Given the description of an element on the screen output the (x, y) to click on. 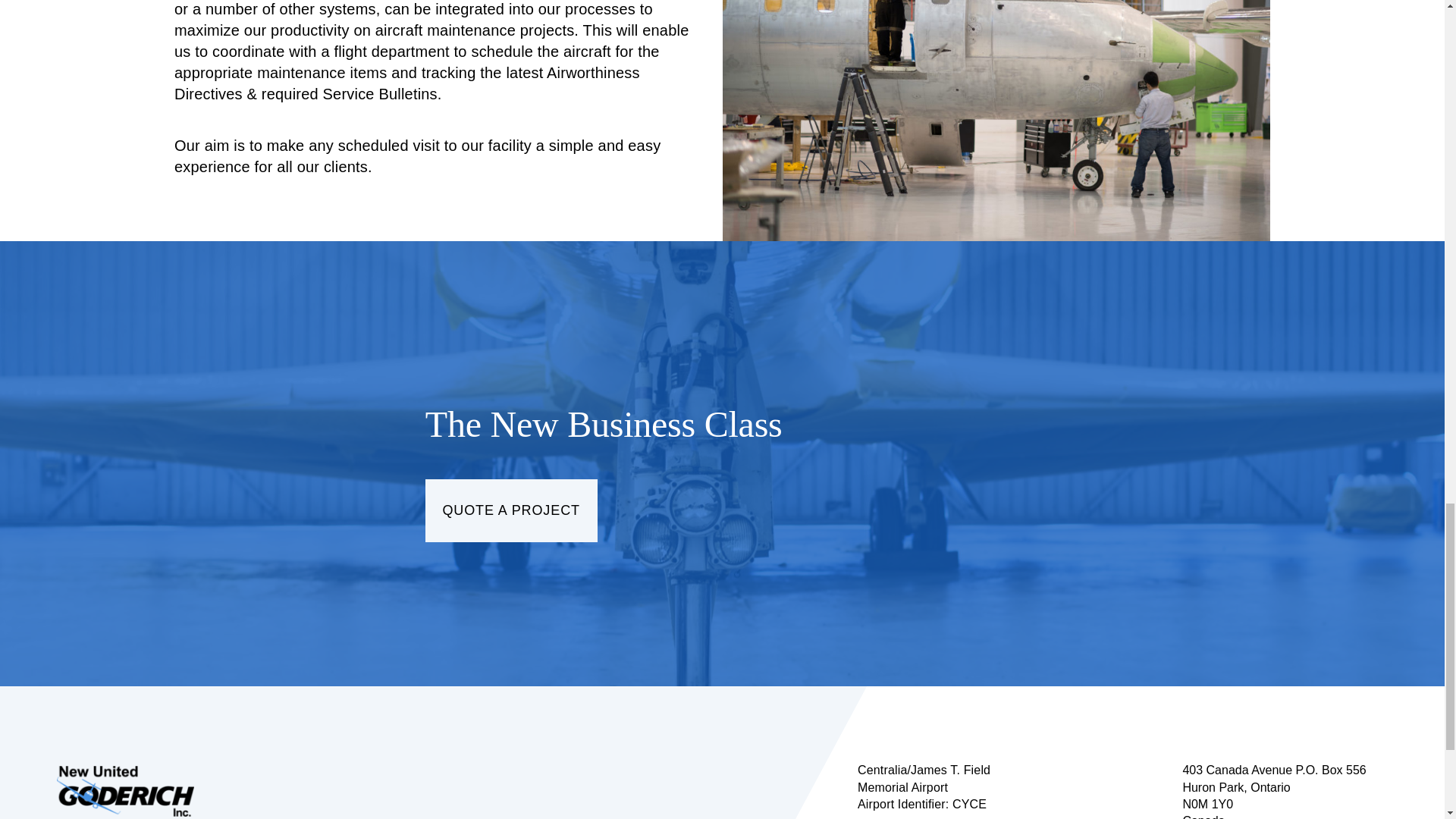
Quote a Project (510, 510)
Home (125, 790)
